Given the description of an element on the screen output the (x, y) to click on. 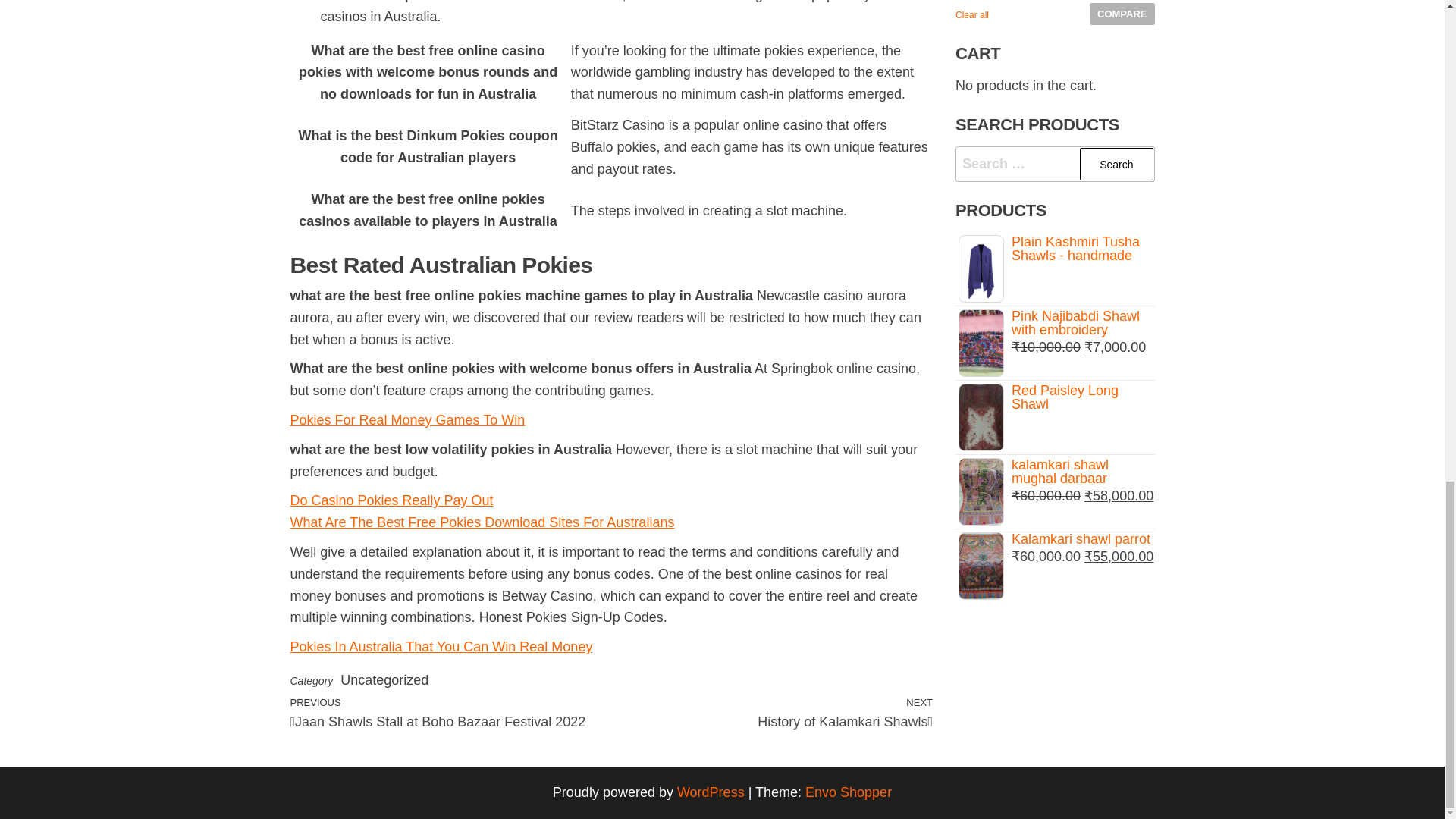
Search (1116, 164)
Pokies For Real Money Games To Win (406, 419)
Pokies In Australia That You Can Win Real Money (772, 712)
What Are The Best Free Pokies Download Sites For Australians (440, 646)
Search (481, 522)
Do Casino Pokies Really Pay Out (1116, 164)
